Given the description of an element on the screen output the (x, y) to click on. 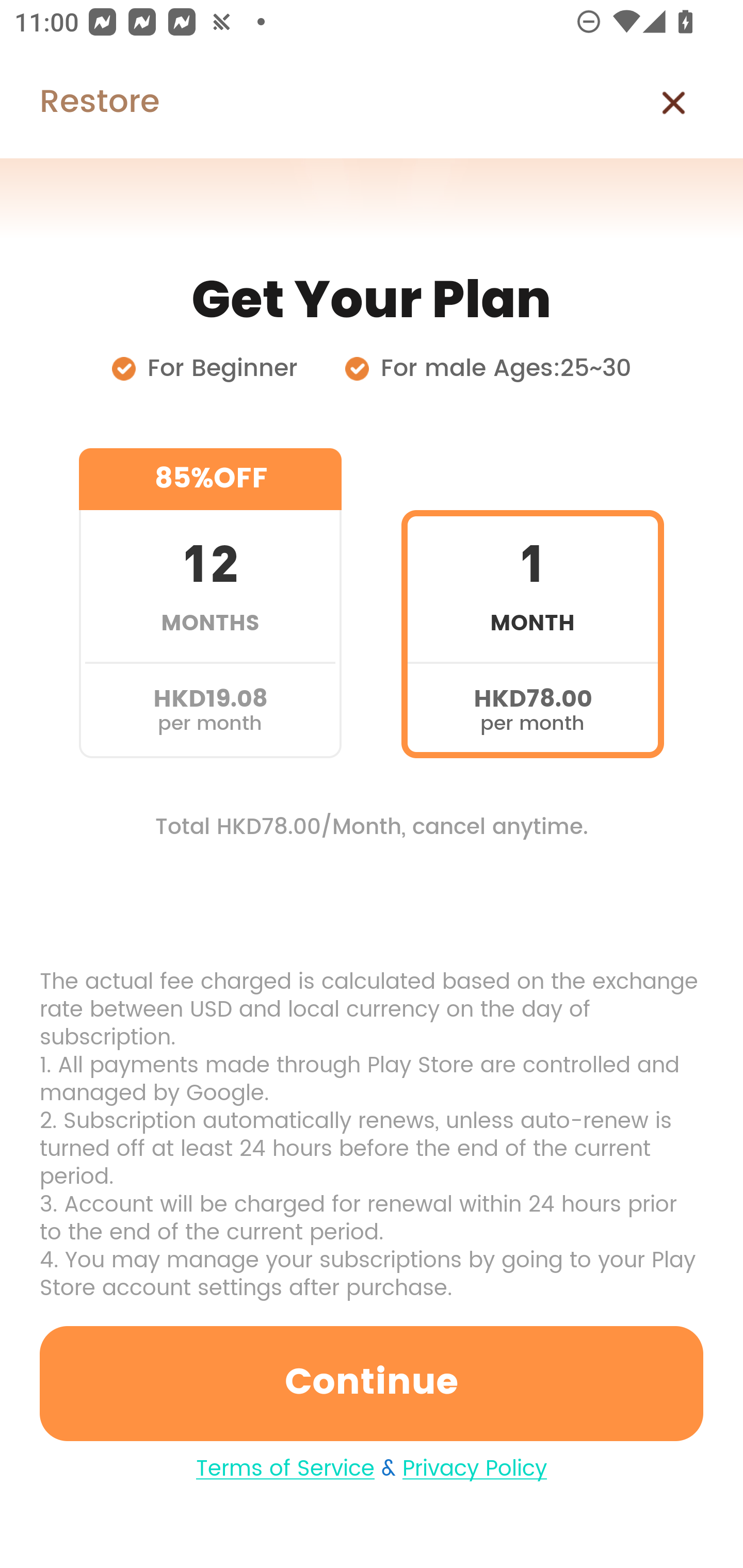
Restore (79, 102)
85%OFF 12 MONTHS per month HKD19.08 (209, 603)
1 MONTH per month HKD78.00 (532, 603)
Continue (371, 1383)
